Given the description of an element on the screen output the (x, y) to click on. 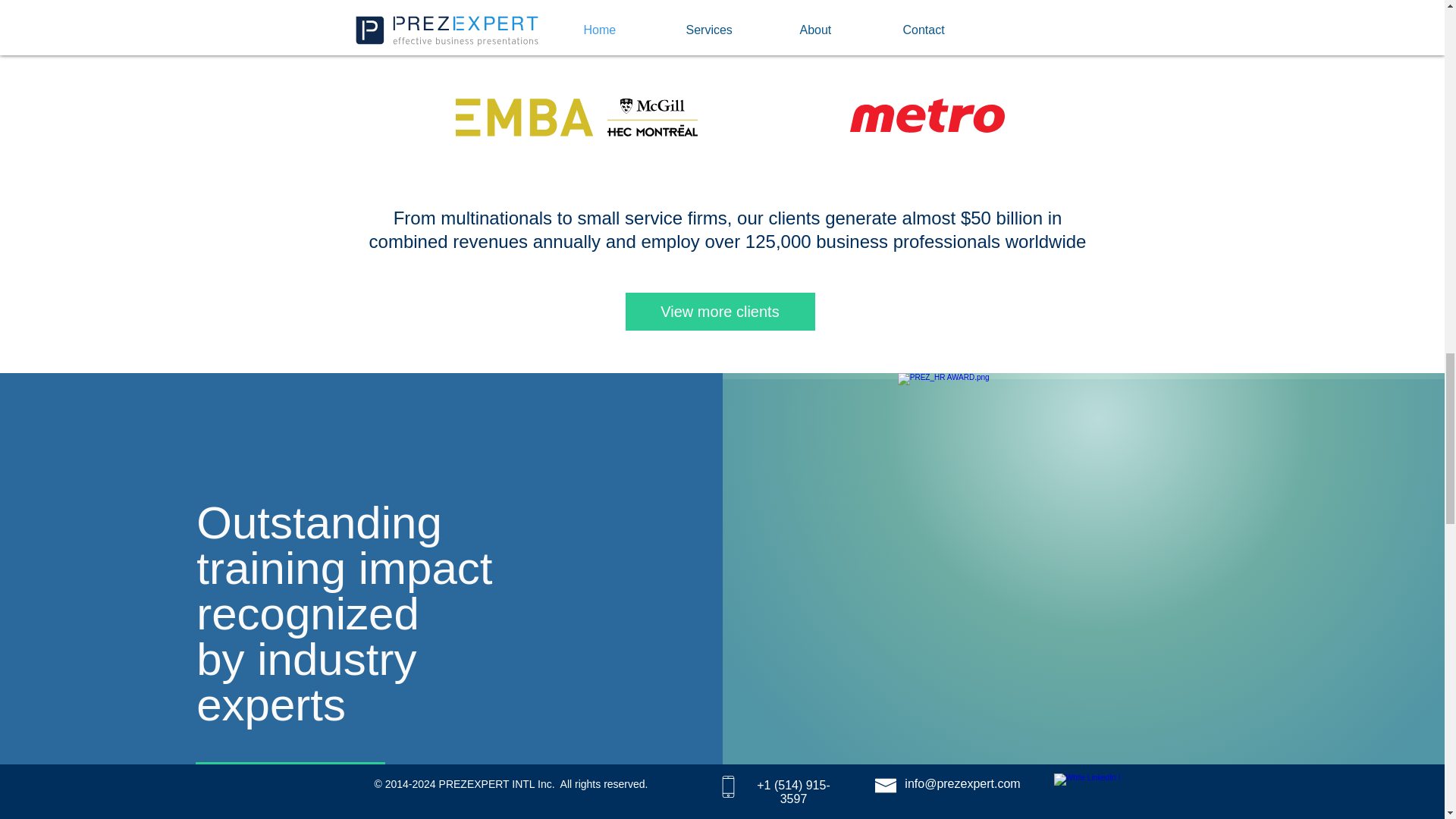
Desjardins green logo.png (550, 10)
View more clients (718, 311)
Learn more (290, 781)
